Given the description of an element on the screen output the (x, y) to click on. 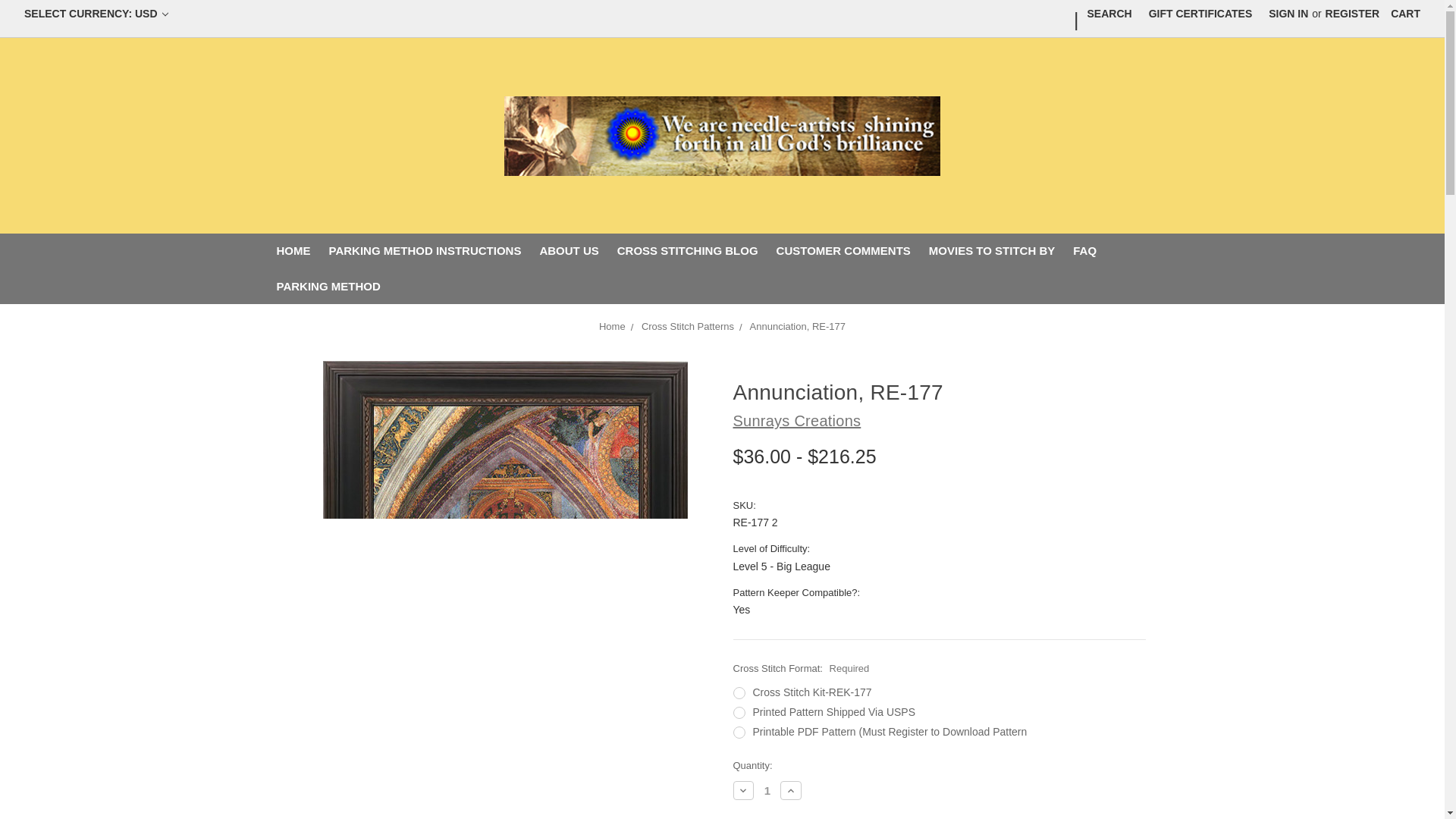
Sunrays Creations (721, 135)
1 (767, 789)
CART (1404, 13)
SIGN IN (1288, 13)
REGISTER (1353, 13)
GIFT CERTIFICATES (1200, 13)
SEARCH (1109, 13)
